Given the description of an element on the screen output the (x, y) to click on. 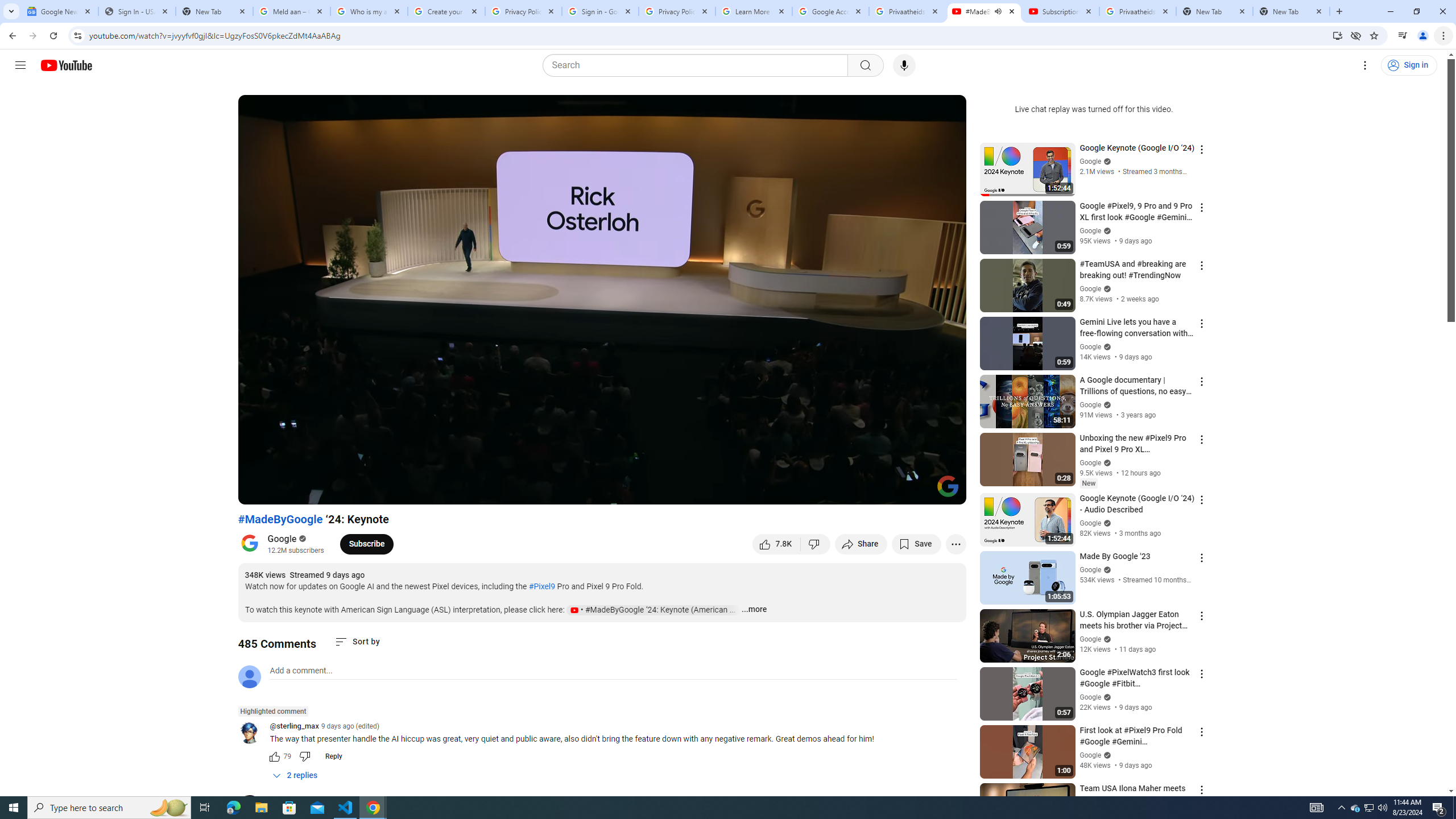
Seek slider (601, 476)
Theater mode (t) (917, 490)
Mute (m) (312, 490)
@sterling_max (293, 726)
New Tab (213, 11)
Verified (1106, 755)
@sterling_max (253, 733)
Who is my administrator? - Google Account Help (368, 11)
Full screen (f) (945, 490)
Search (697, 65)
